Given the description of an element on the screen output the (x, y) to click on. 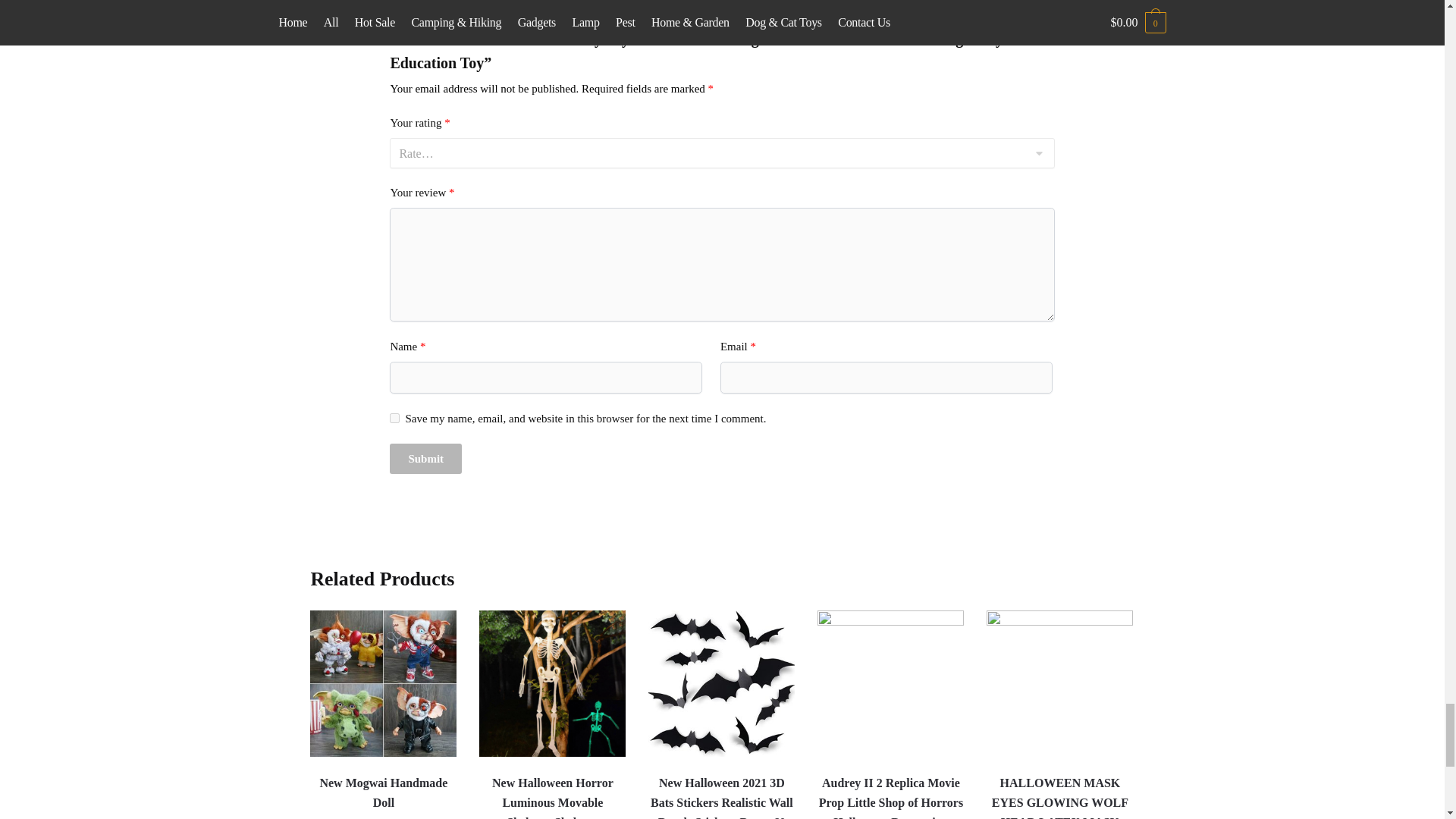
Submit (425, 458)
yes (394, 418)
Submit (425, 458)
